Given the description of an element on the screen output the (x, y) to click on. 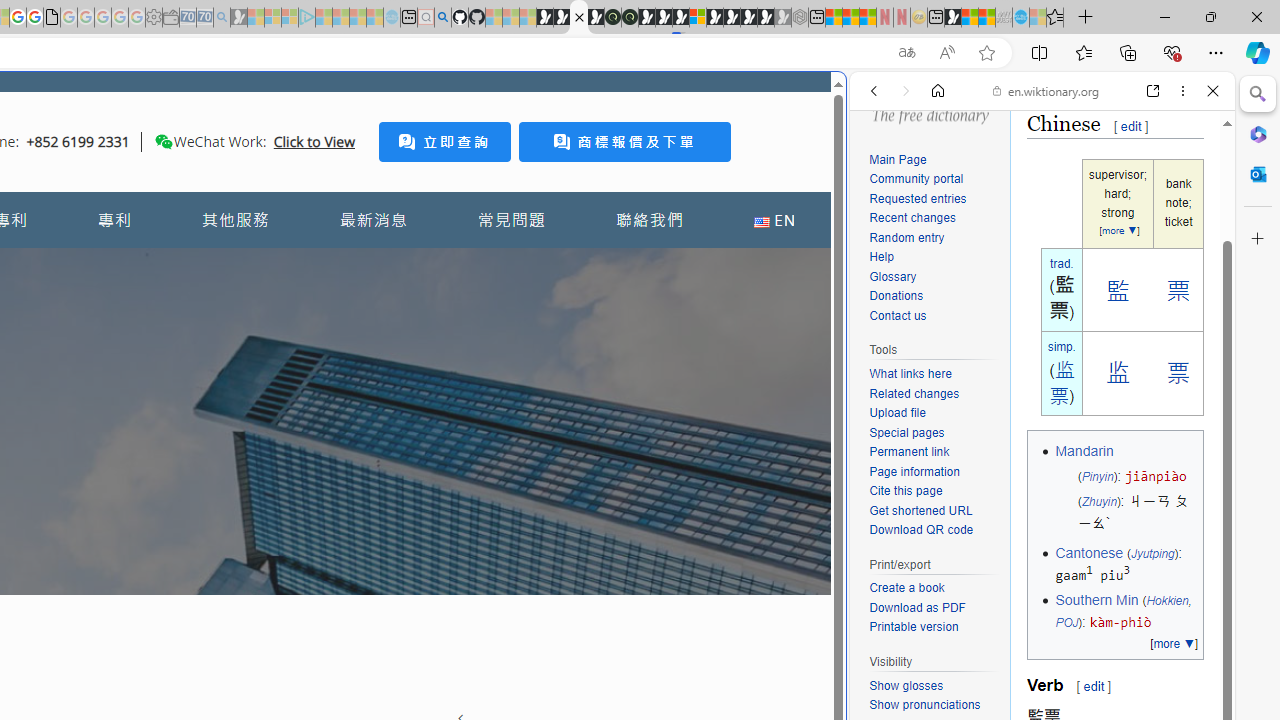
Upload file (897, 413)
Search Filter, WEB (882, 228)
Main Page (897, 159)
MSN (952, 17)
Help (934, 257)
Future Focus Report 2024 (629, 17)
Show pronunciations (934, 705)
Recent changes (912, 218)
Random entry (934, 238)
Web scope (882, 180)
